Given the description of an element on the screen output the (x, y) to click on. 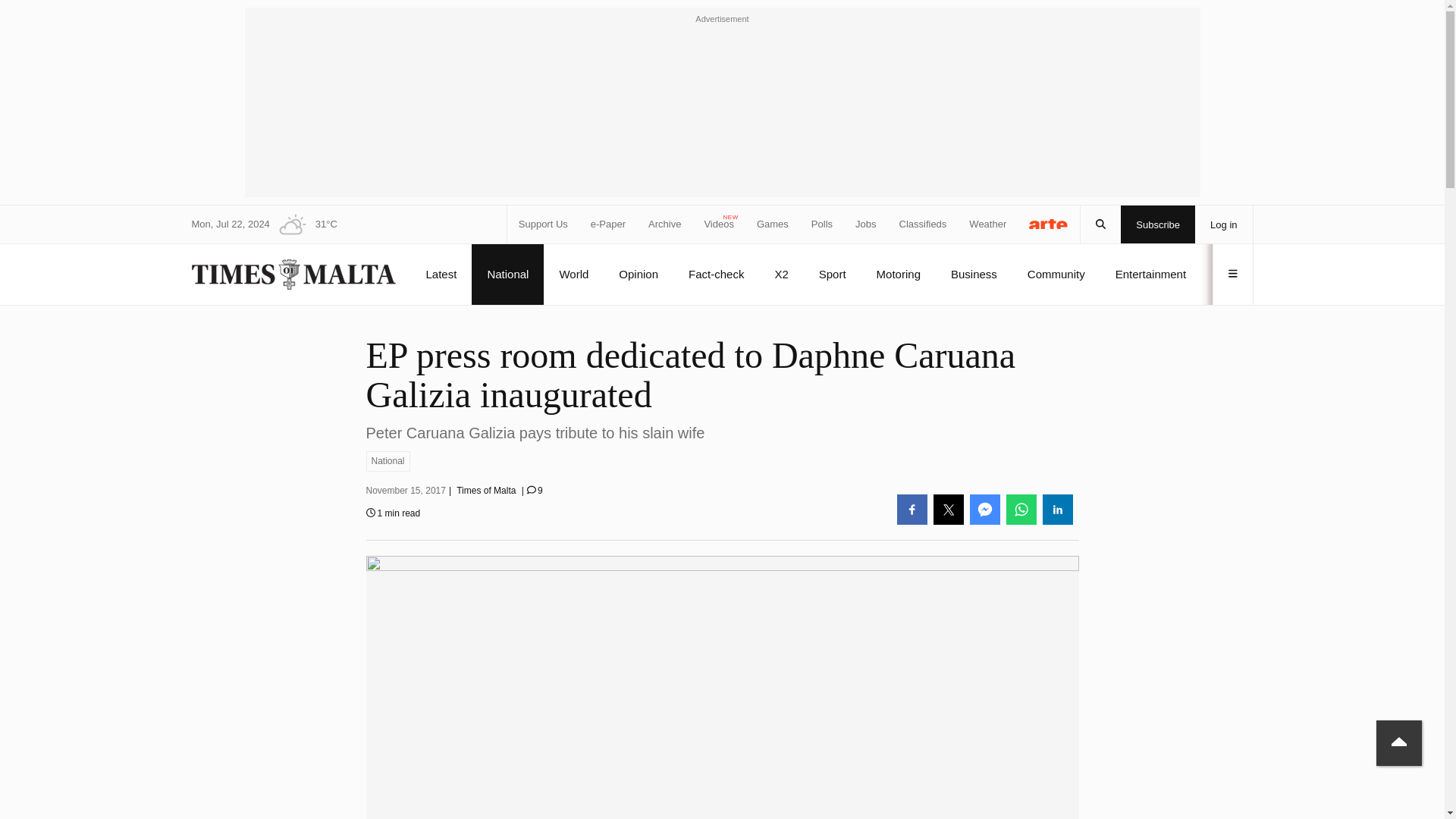
Community (1055, 274)
Log in (1223, 224)
Additional weather information (303, 224)
Subscribe (1158, 224)
Times of Malta (486, 490)
Support Us (542, 224)
Classifieds (923, 224)
e-Paper (608, 224)
Fact-check (716, 274)
Entertainment (1150, 274)
National (387, 461)
View more articles by Times of Malta (486, 490)
